Given the description of an element on the screen output the (x, y) to click on. 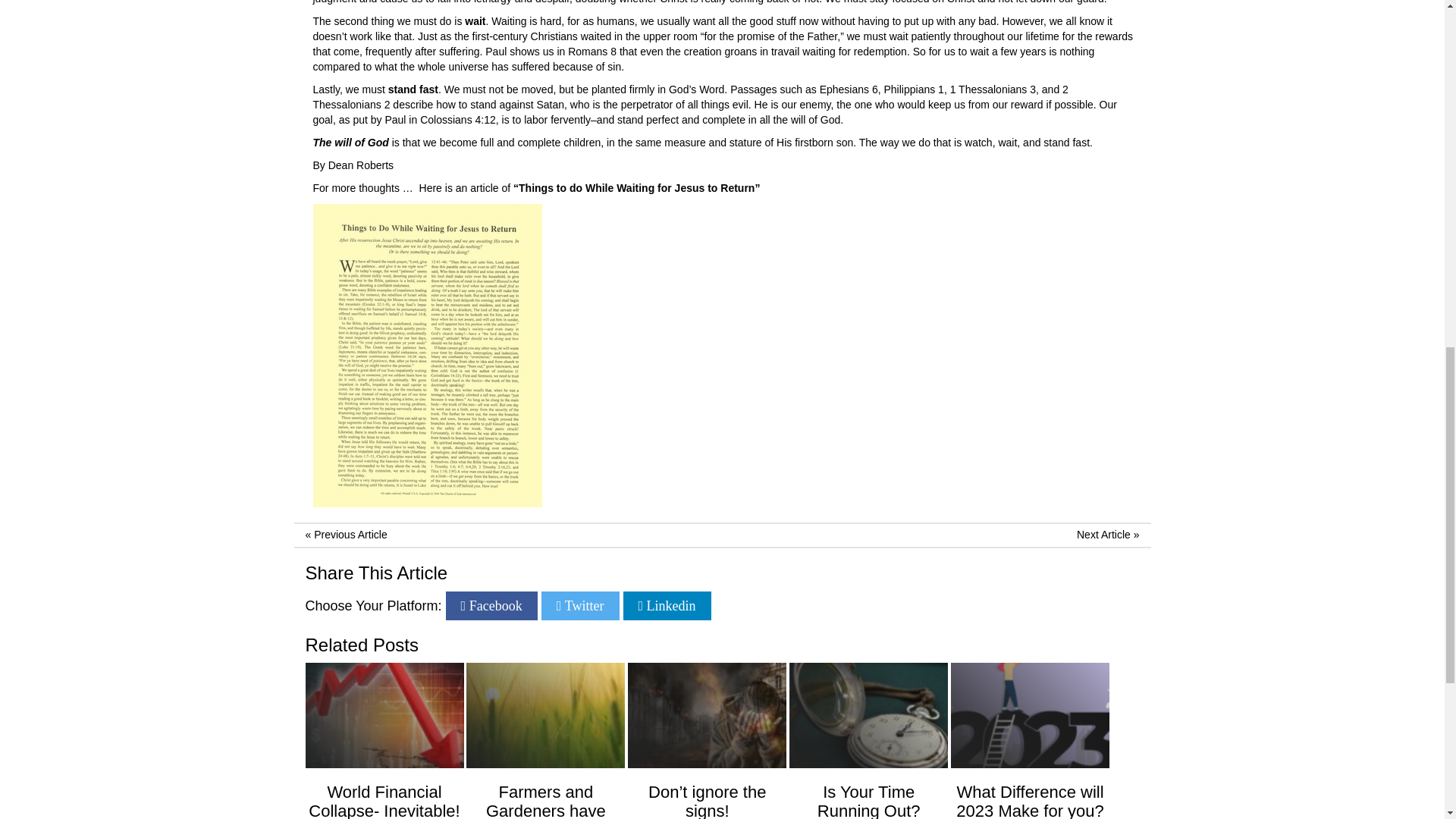
Colossians 4:12 (458, 119)
Next Article (1104, 534)
Ephesians 6 (848, 89)
Previous Article (350, 534)
1 Thessalonians 3 (992, 89)
2 Thessalonians 2 (690, 96)
Philippians 1 (913, 89)
Romans 8 (591, 51)
Twitter (580, 605)
Linkedin (667, 605)
Facebook (491, 605)
